Given the description of an element on the screen output the (x, y) to click on. 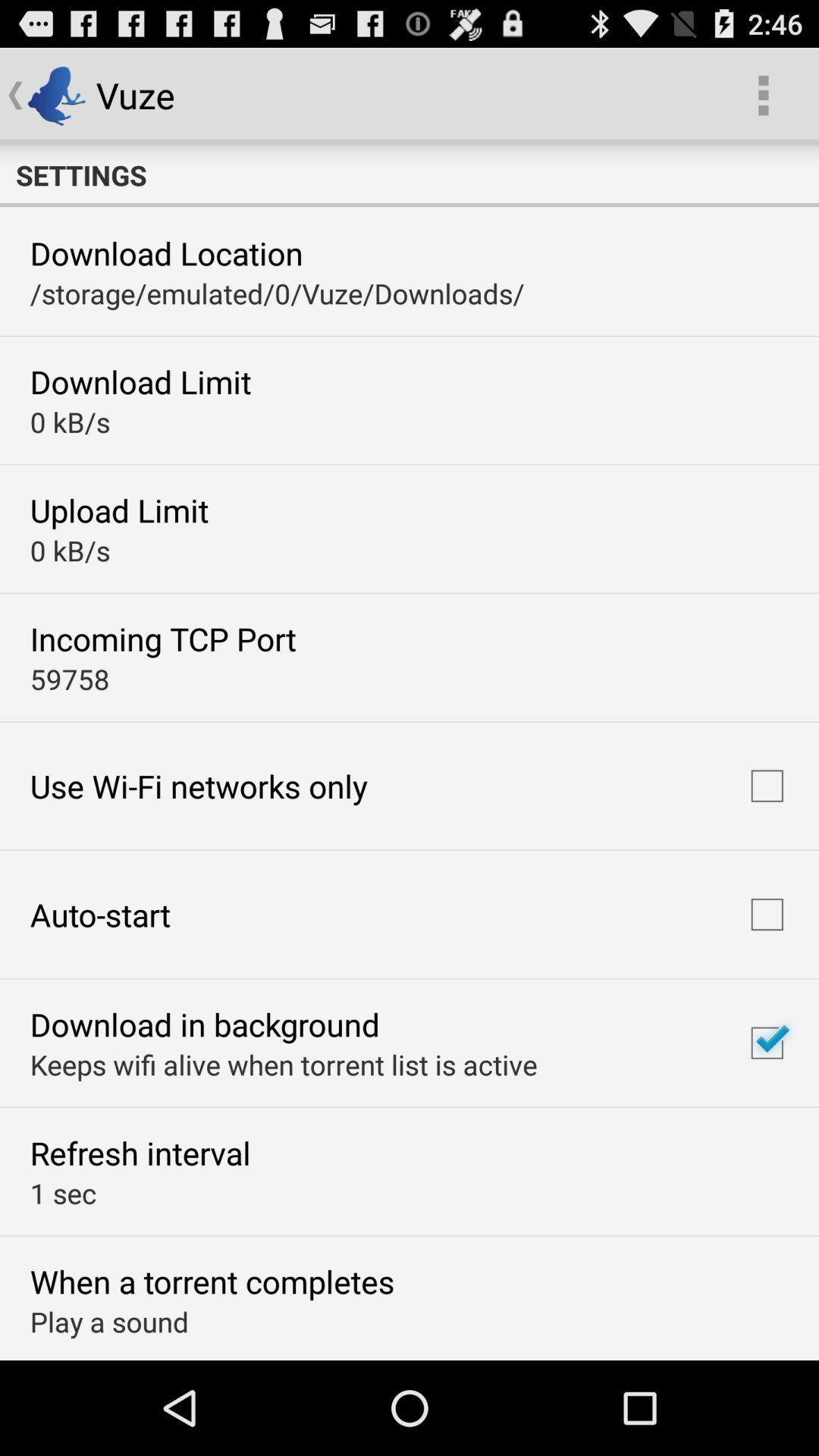
swipe until the download limit (140, 381)
